Given the description of an element on the screen output the (x, y) to click on. 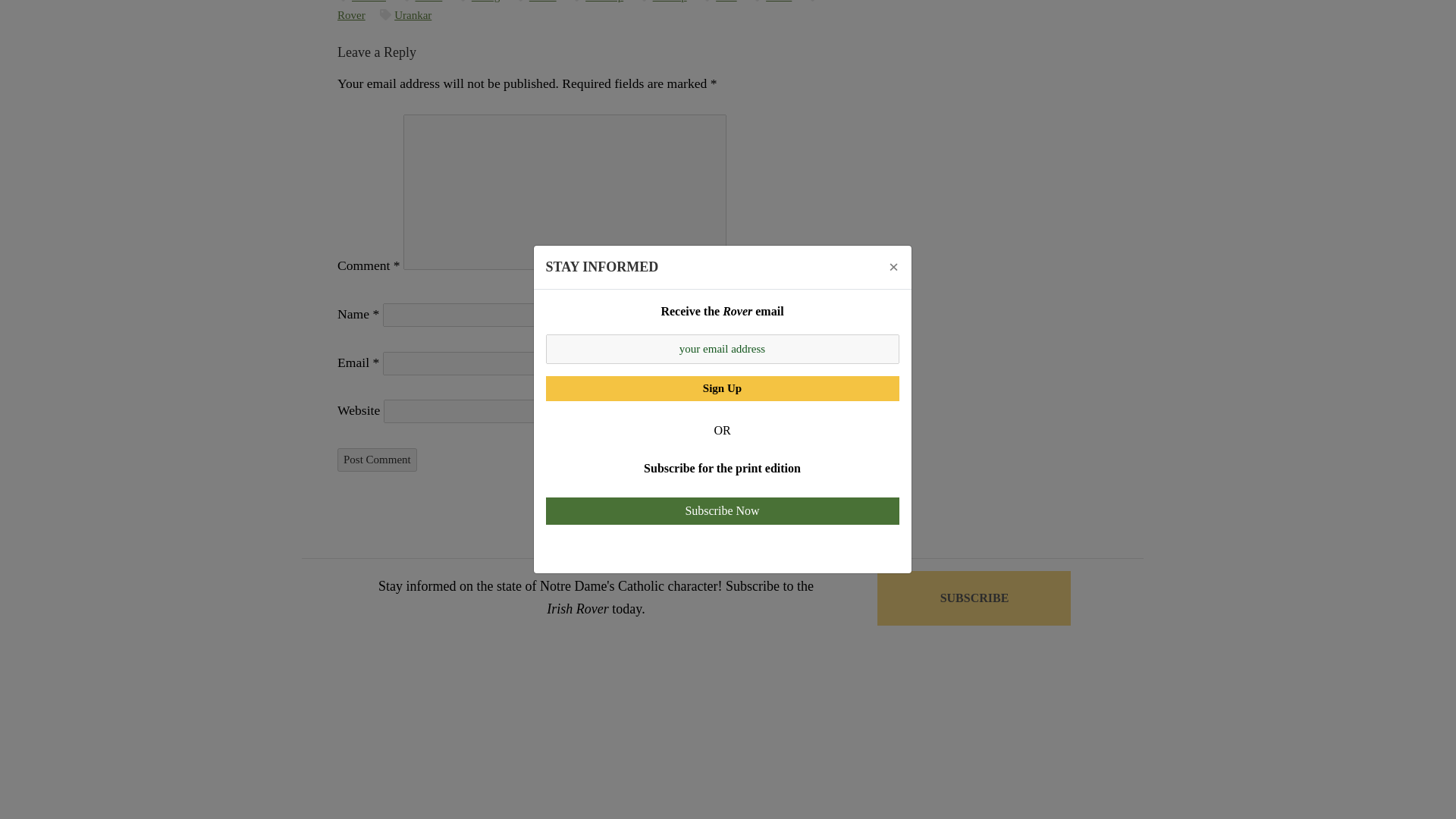
Post Comment (376, 459)
